Given the description of an element on the screen output the (x, y) to click on. 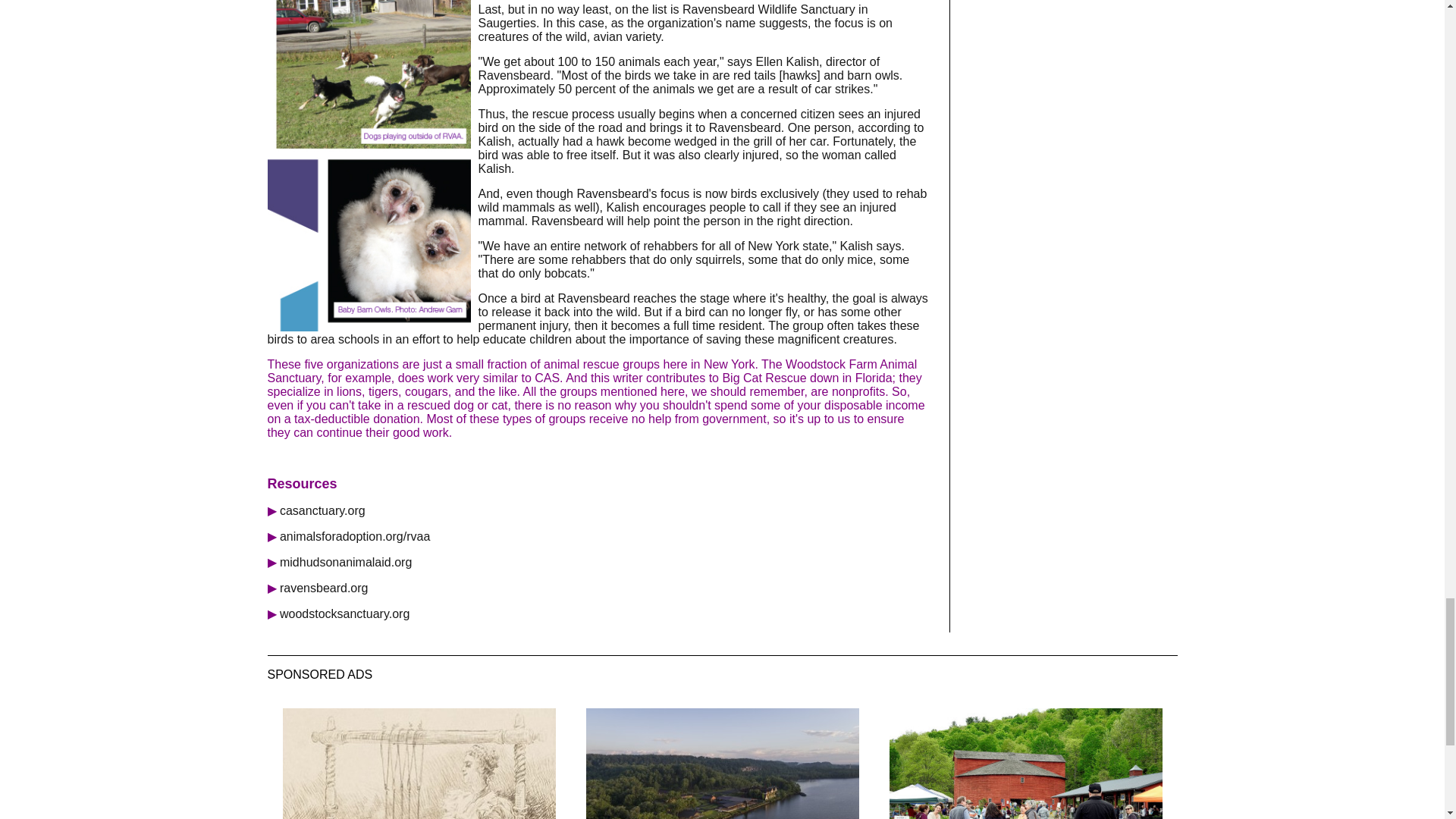
ravensbeard.org (323, 587)
midhudsonanimalaid.org (345, 562)
woodstocksanctuary.org (344, 613)
casanctuary.org (322, 510)
